Given the description of an element on the screen output the (x, y) to click on. 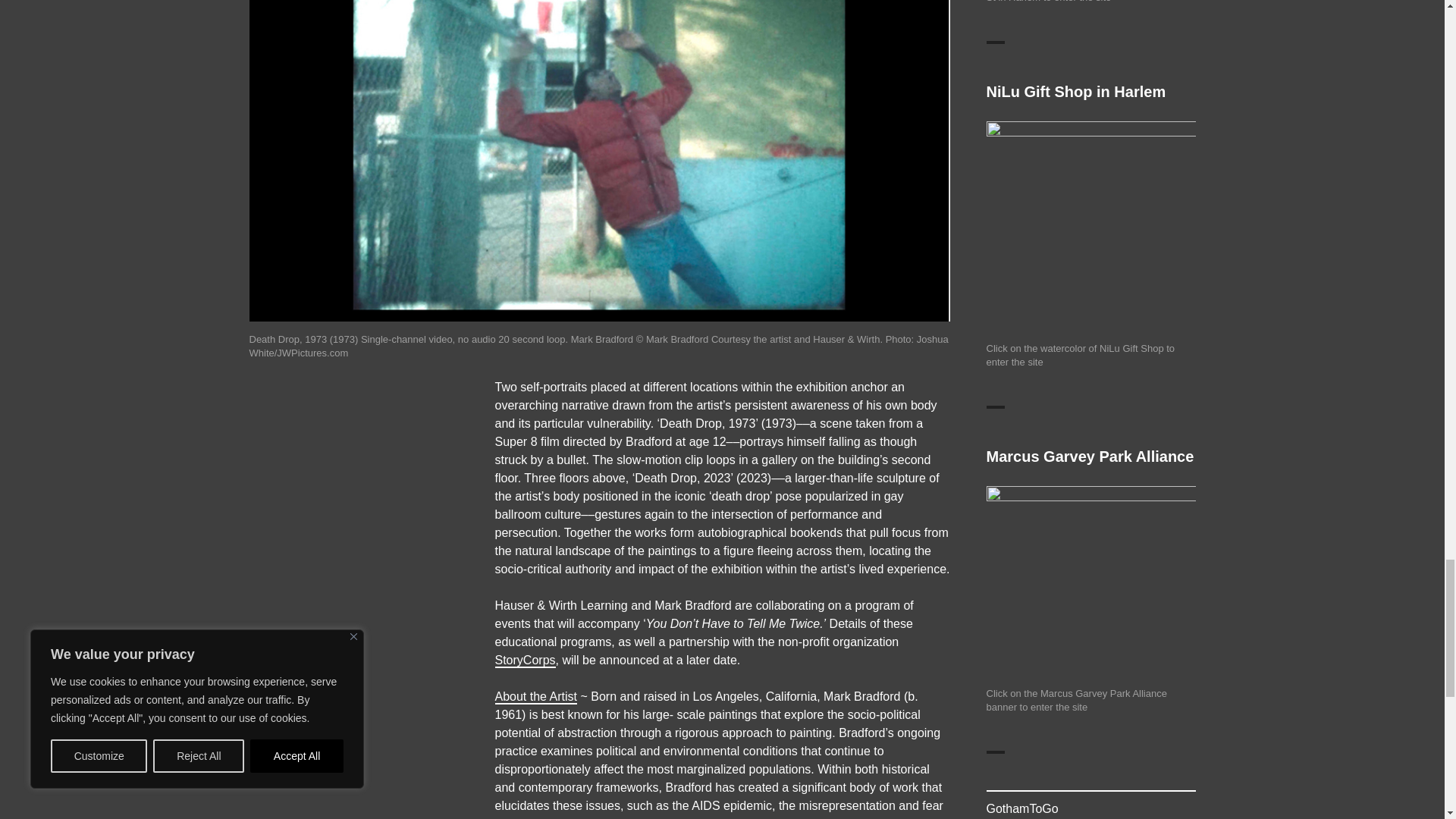
StoryCorps (524, 659)
About the Artist (535, 696)
